Given the description of an element on the screen output the (x, y) to click on. 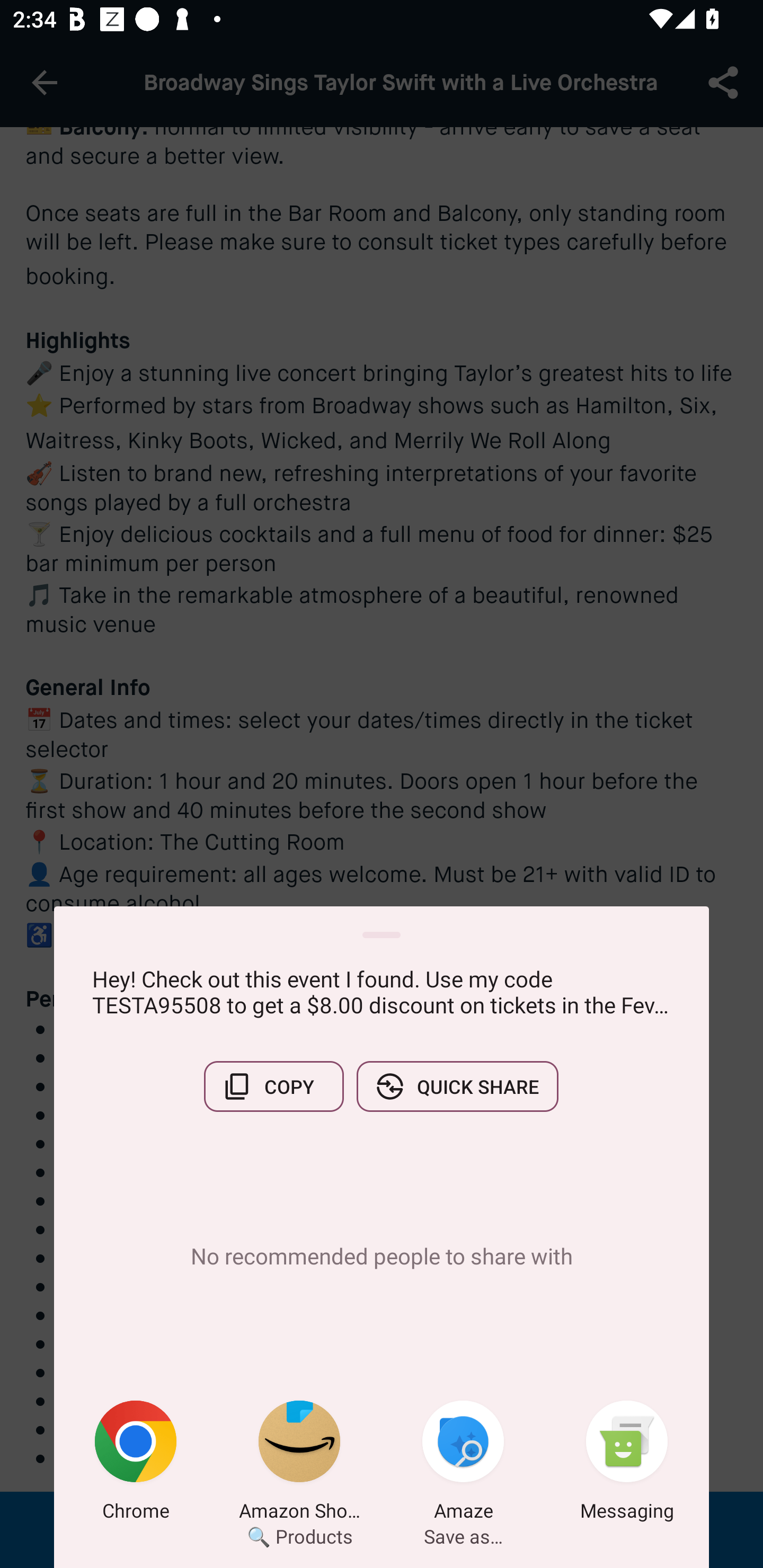
COPY (273, 1086)
QUICK SHARE (457, 1086)
Chrome (135, 1463)
Amazon Shopping 🔍 Products (299, 1463)
Amaze Save as… (463, 1463)
Messaging (626, 1463)
